Given the description of an element on the screen output the (x, y) to click on. 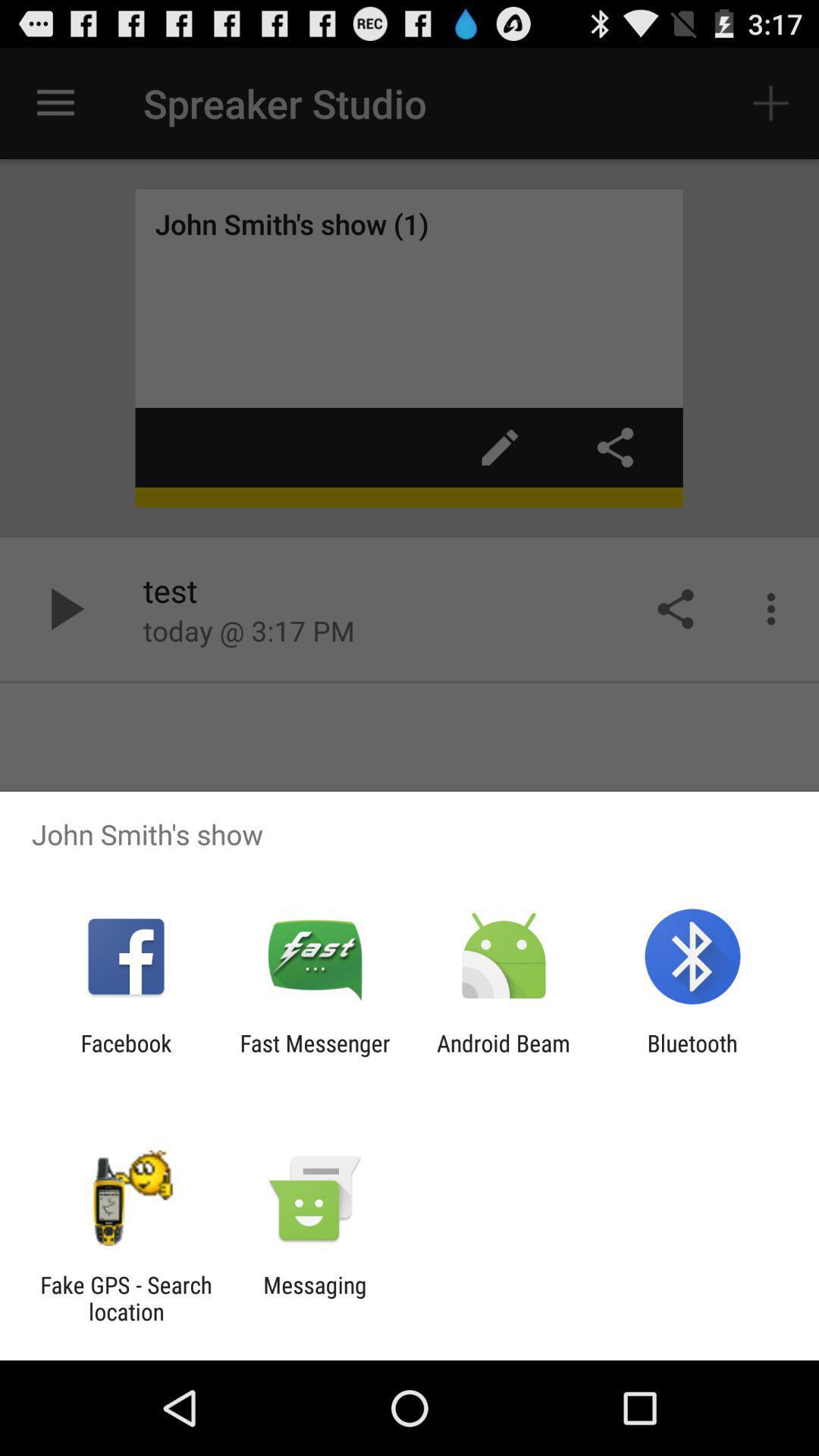
press the icon next to the facebook icon (315, 1056)
